Given the description of an element on the screen output the (x, y) to click on. 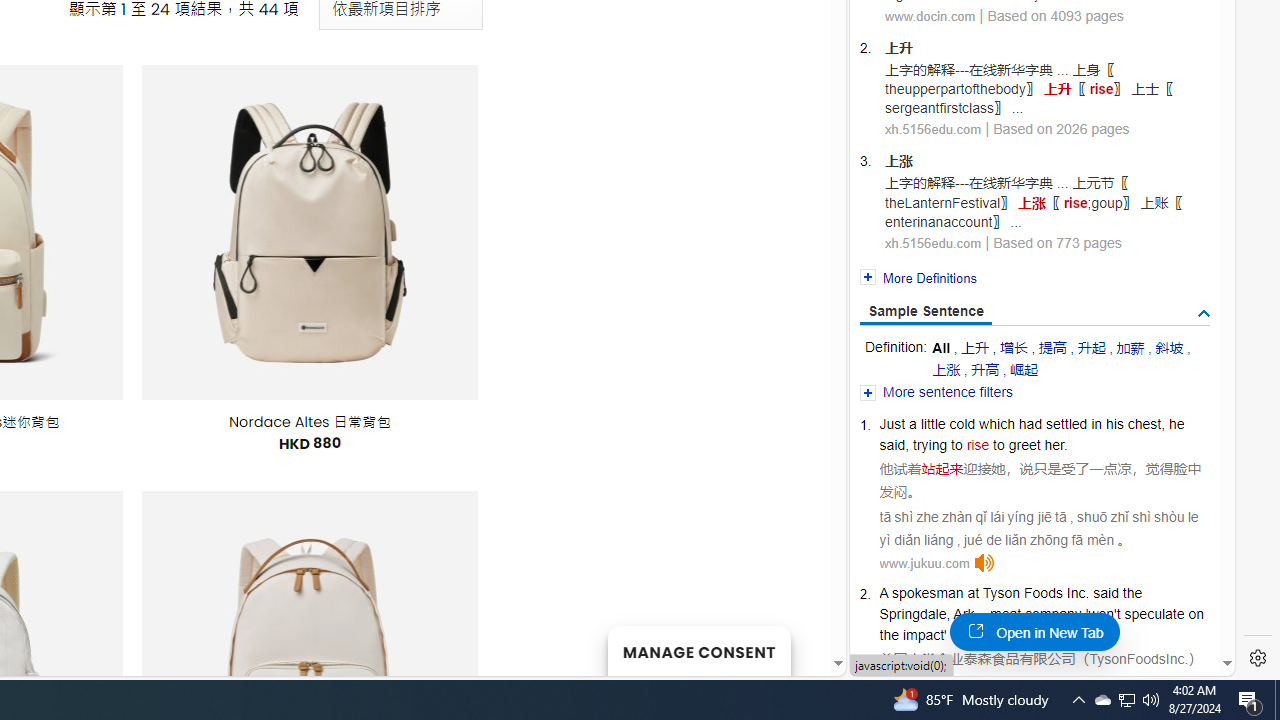
greet (1024, 444)
he (1176, 424)
trying (929, 444)
of (955, 634)
impact (923, 634)
Based on 2026 pages (1061, 129)
' (1087, 614)
spokesman (926, 592)
company (1053, 614)
